Given the description of an element on the screen output the (x, y) to click on. 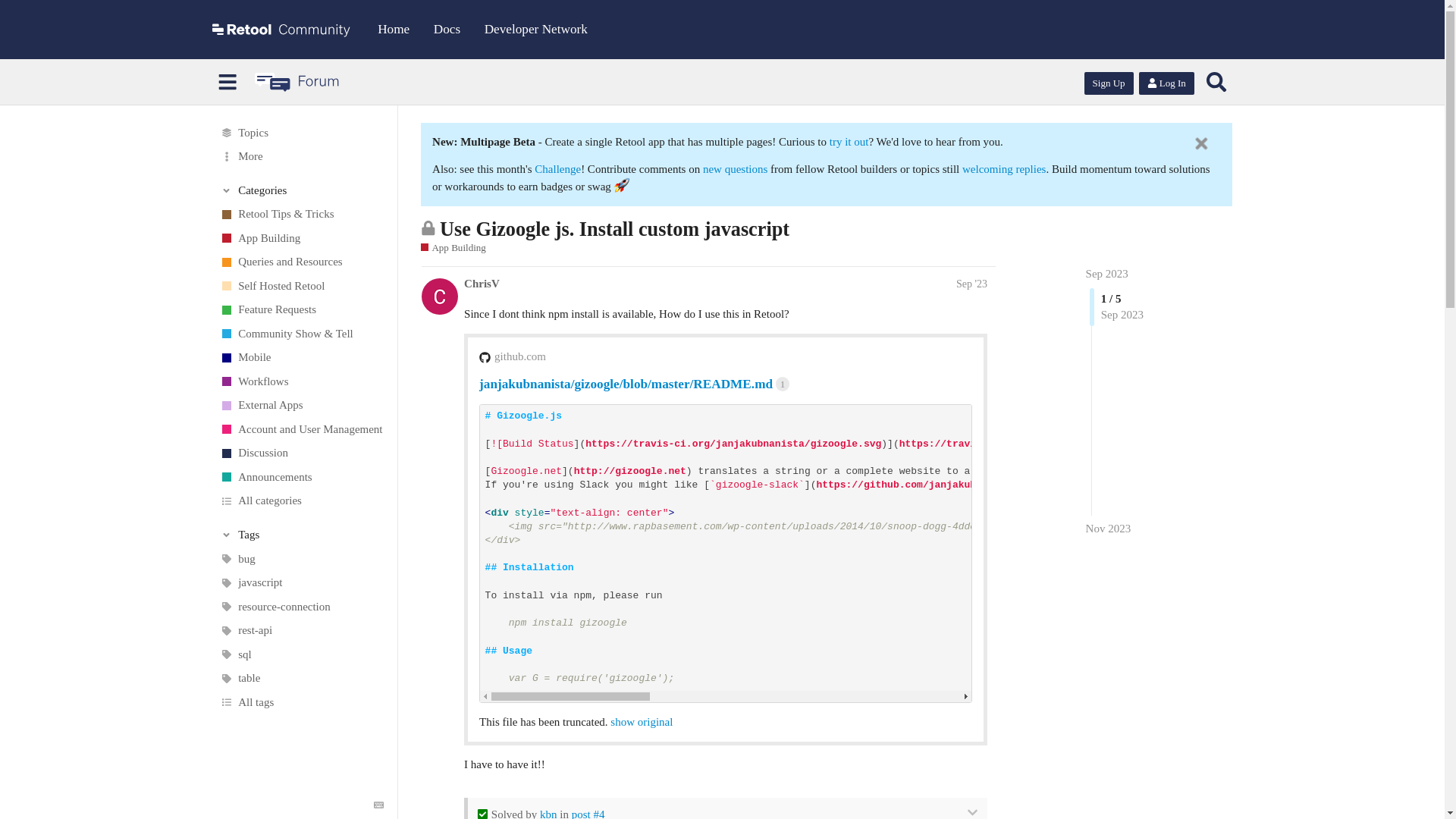
Self Hosted Retool (301, 286)
Queries and Resources (301, 262)
try it out (849, 141)
Search (1215, 82)
Discussion (301, 453)
Workflows (301, 381)
Challenge (557, 168)
welcoming replies (1003, 168)
Toggle section (301, 190)
Topics (301, 132)
